Given the description of an element on the screen output the (x, y) to click on. 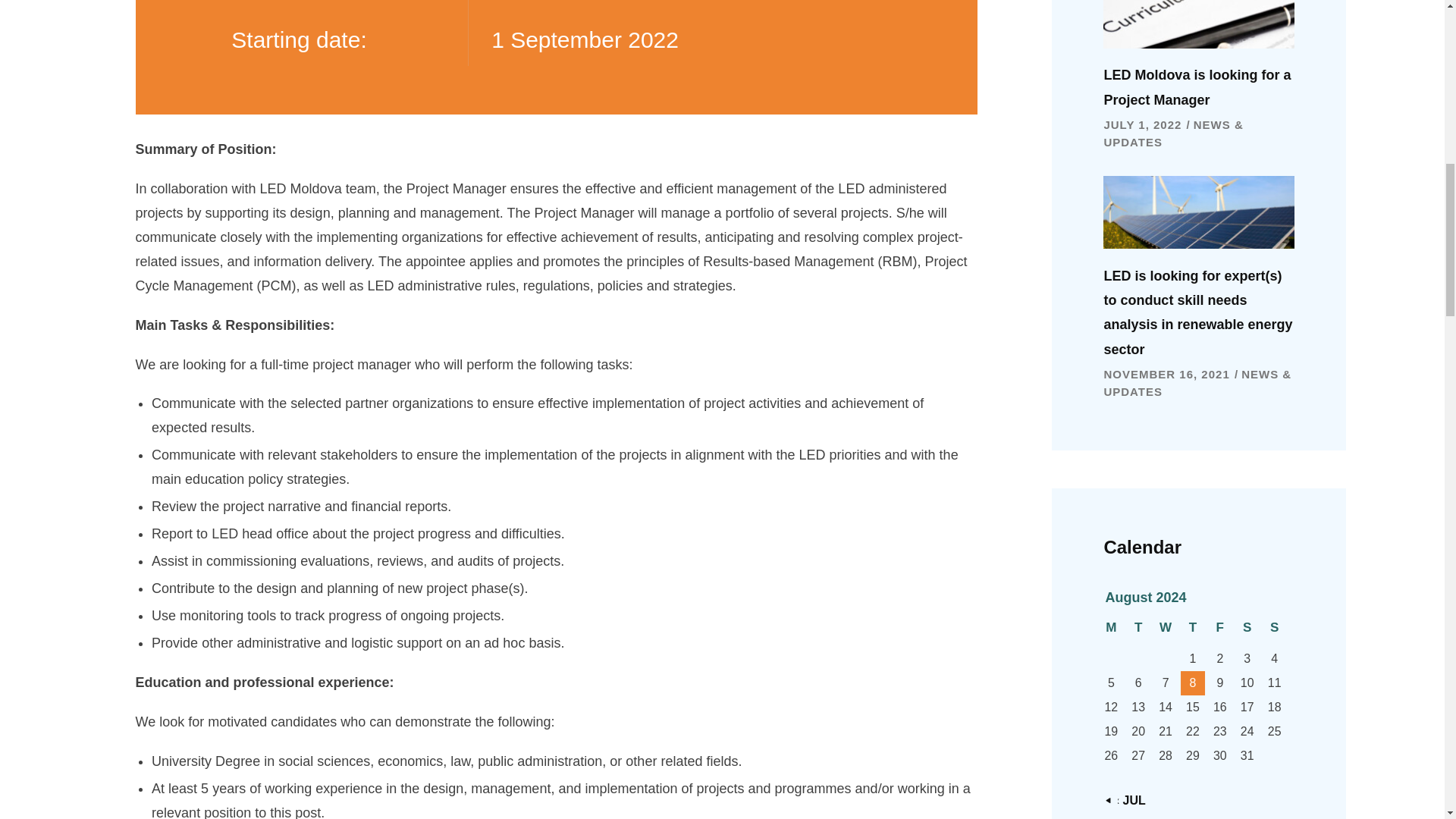
Friday (1220, 631)
Tuesday (1137, 631)
Wednesday (1165, 631)
Sunday (1274, 631)
Thursday (1193, 631)
Monday (1110, 631)
Saturday (1246, 631)
